Given the description of an element on the screen output the (x, y) to click on. 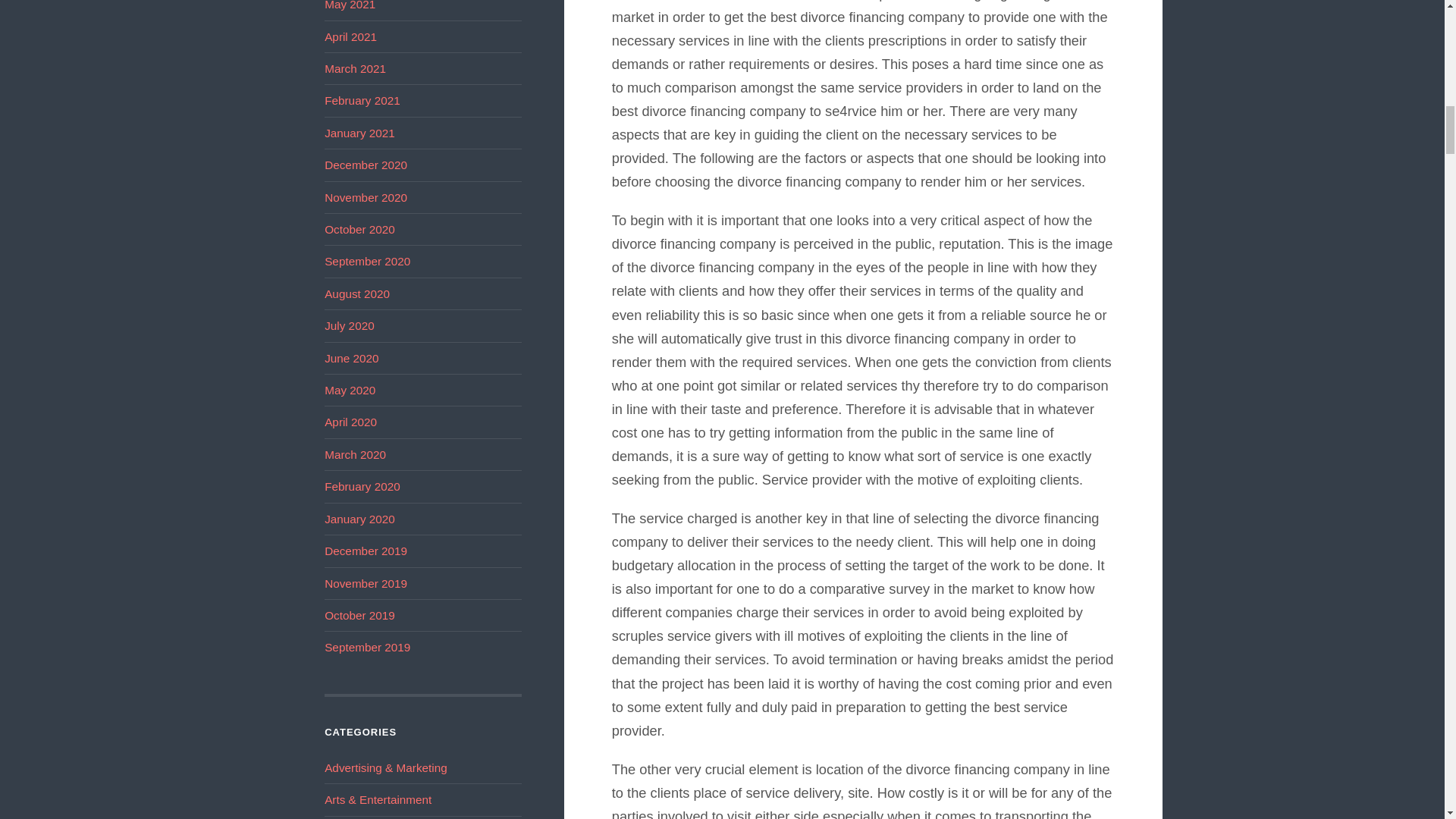
April 2021 (350, 36)
May 2021 (349, 5)
December 2020 (365, 164)
January 2021 (359, 132)
March 2021 (354, 68)
February 2021 (362, 100)
